Given the description of an element on the screen output the (x, y) to click on. 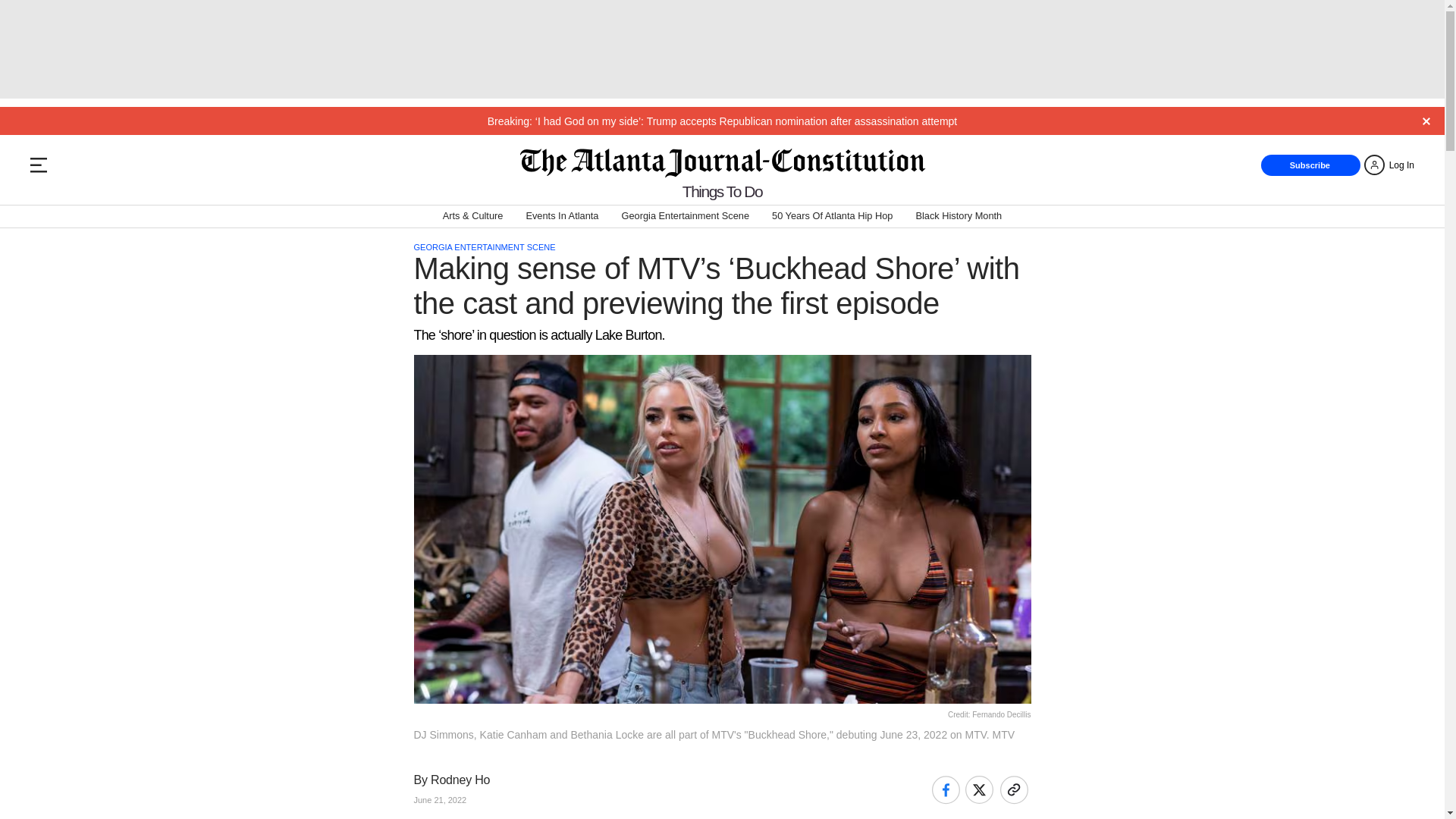
Things To Do (721, 191)
Georgia Entertainment Scene (685, 216)
Events In Atlanta (561, 216)
3rd party ad content (721, 49)
Black History Month (958, 216)
50 Years Of Atlanta Hip Hop (831, 216)
